Given the description of an element on the screen output the (x, y) to click on. 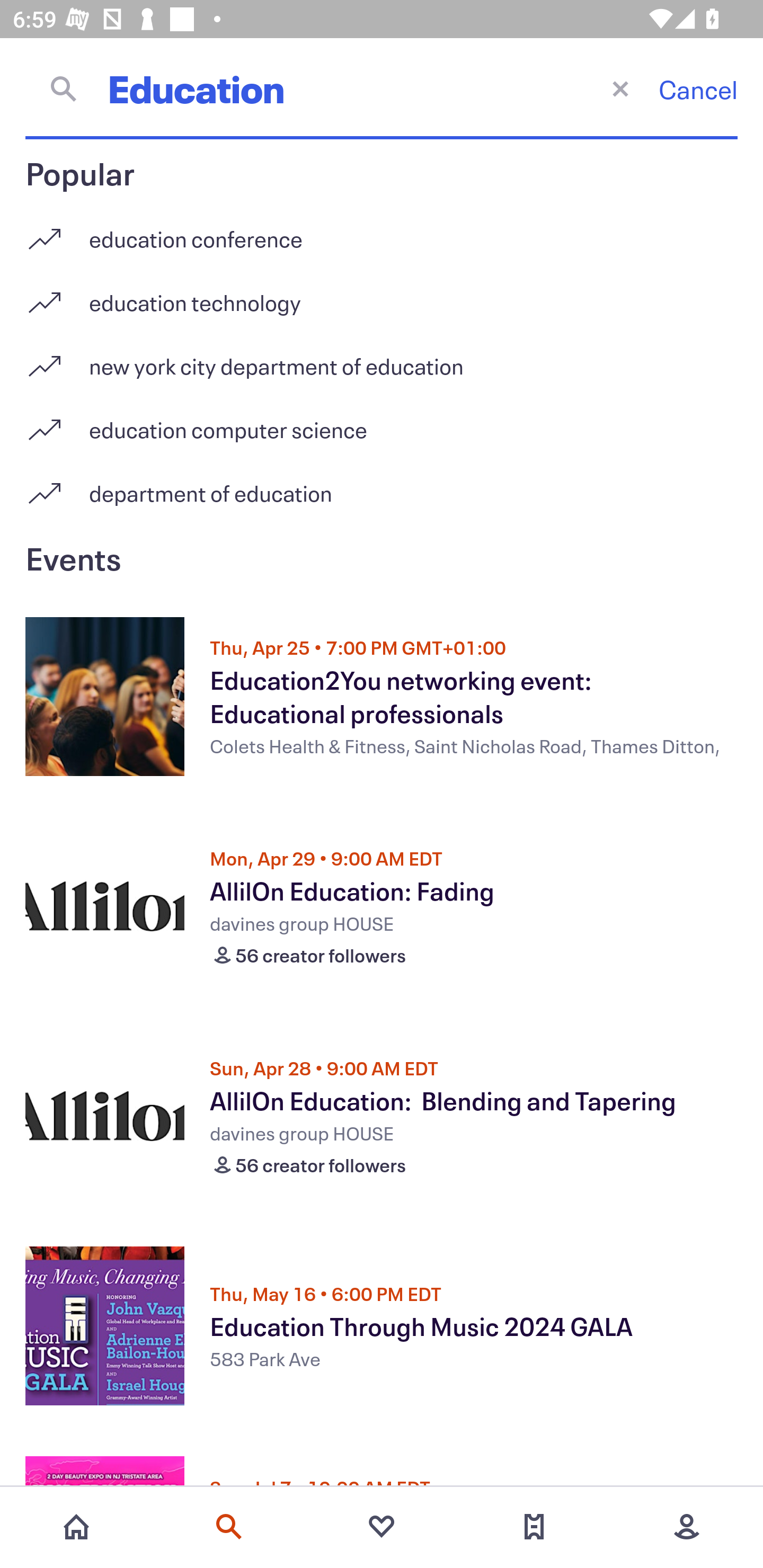
Education Close current screen Cancel (381, 88)
Close current screen (620, 88)
Cancel (697, 89)
education conference (381, 231)
education technology (381, 295)
new york city department of education (381, 358)
education computer science (381, 422)
department of education (381, 492)
Home (76, 1526)
Search events (228, 1526)
Favorites (381, 1526)
Tickets (533, 1526)
More (686, 1526)
